Given the description of an element on the screen output the (x, y) to click on. 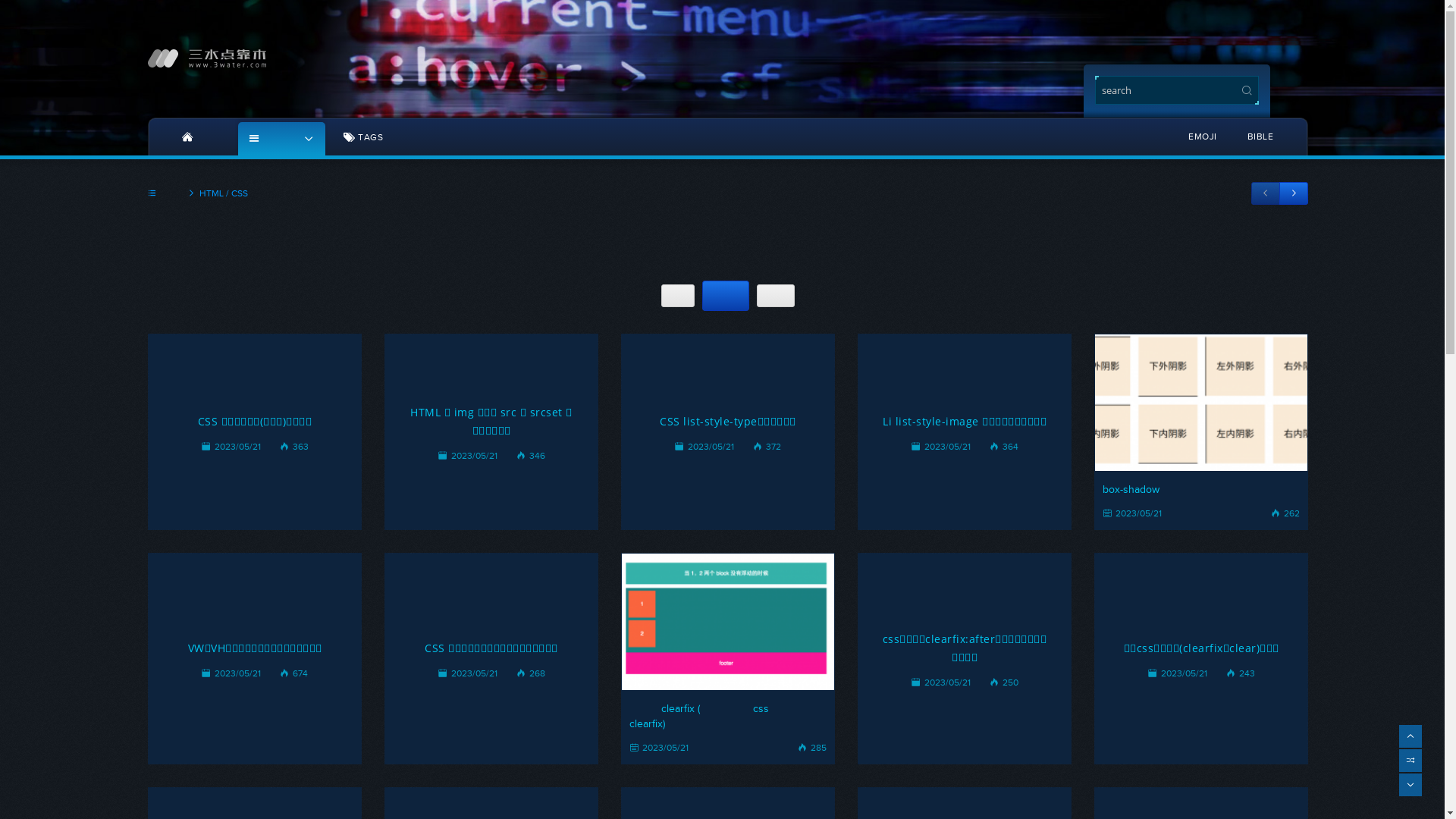
EMOJI Element type: text (1202, 136)
BIBLE Element type: text (1260, 136)
TAGS Element type: text (363, 136)
